Given the description of an element on the screen output the (x, y) to click on. 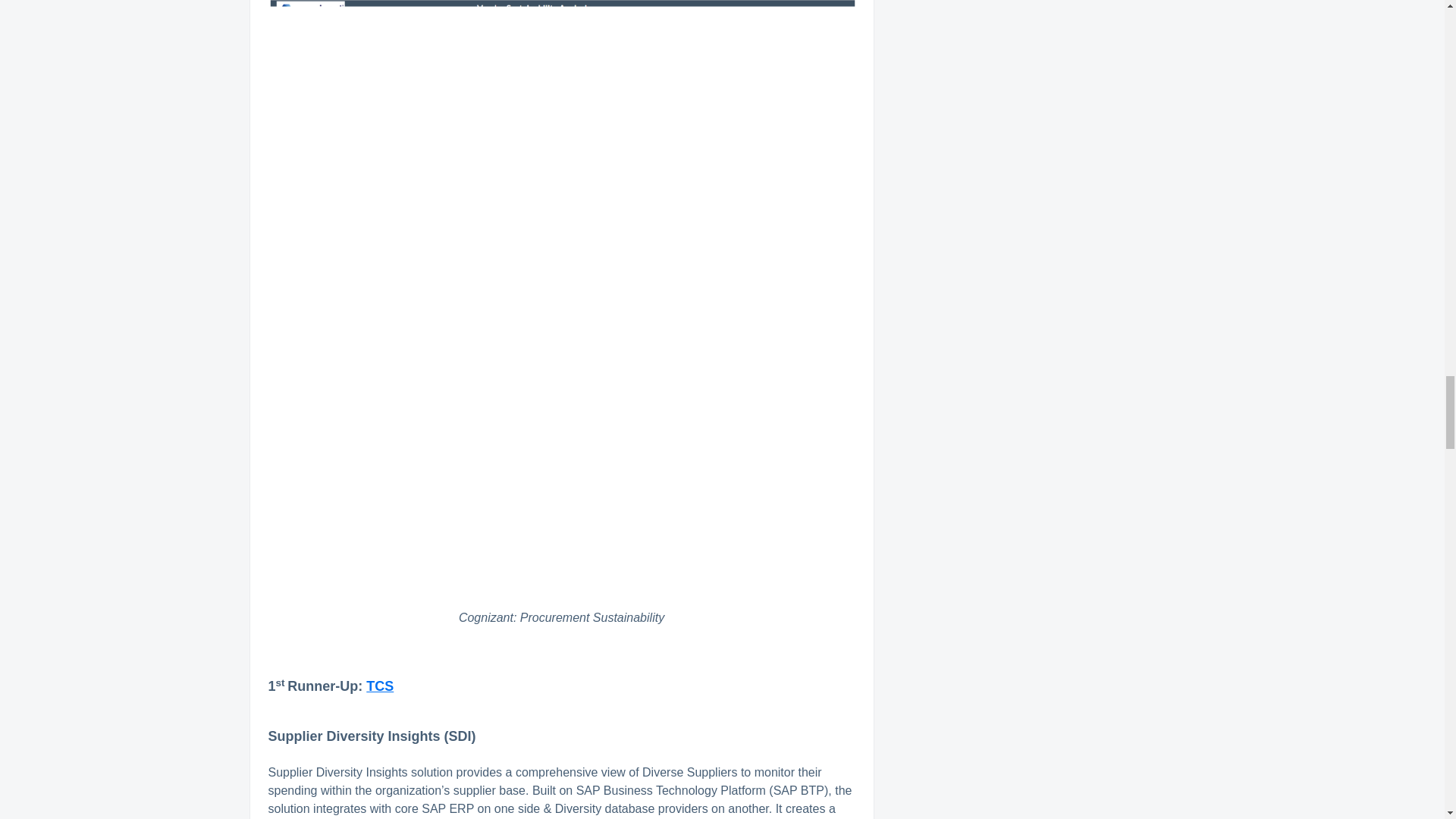
TCS (379, 685)
